Given the description of an element on the screen output the (x, y) to click on. 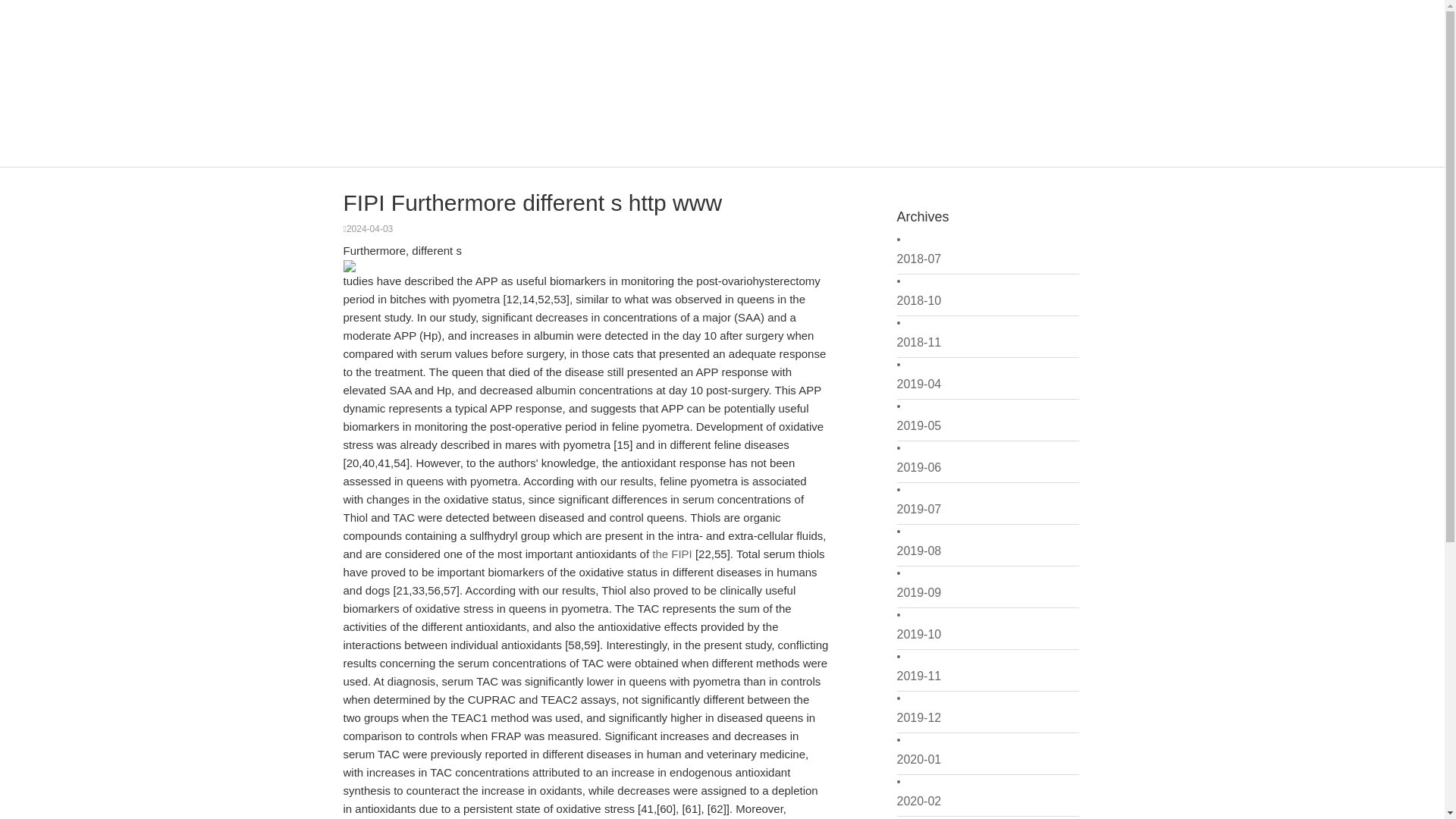
2020-01 (987, 759)
2019-07 (987, 509)
2020-02 (987, 801)
2019-11 (987, 676)
2019-05 (987, 425)
Online inhibitor (418, 113)
2019-12 (987, 717)
2019-08 (987, 551)
2019-09 (987, 592)
2018-11 (987, 342)
2019-04 (987, 384)
2018-10 (987, 300)
2019-06 (987, 467)
2018-07 (987, 258)
2019-10 (987, 634)
